Given the description of an element on the screen output the (x, y) to click on. 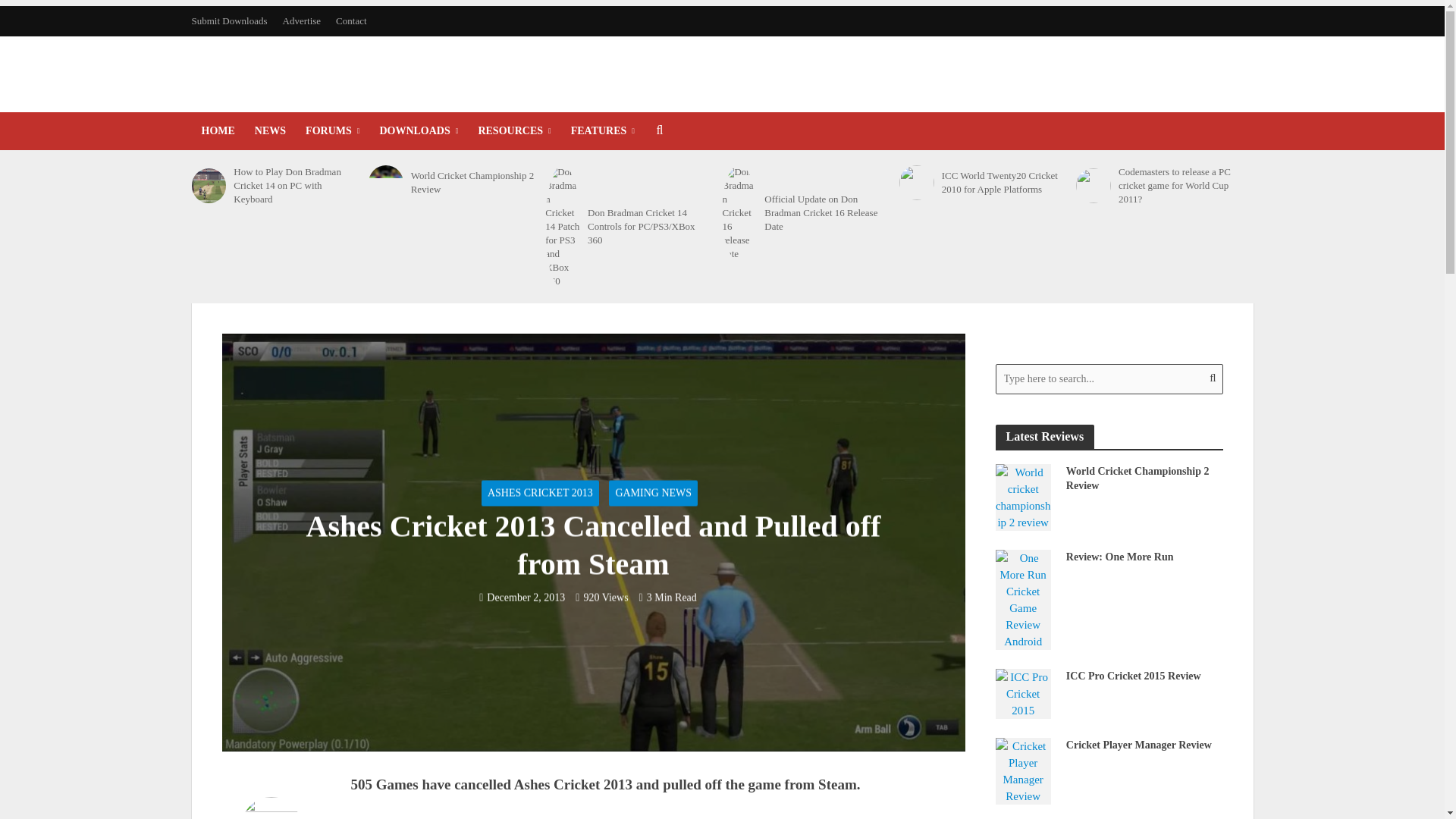
HOME (217, 130)
RESOURCES (513, 130)
Review: One More Run (1021, 598)
How to Play Don Bradman Cricket 14 on PC with Keyboard (295, 185)
Codemasters to release a PC cricket game for World Cup 2011? (1092, 185)
Cricket Player Manager Review (1021, 769)
World Cricket Championship 2 Review (472, 182)
World Cricket Championship 2 Review (1021, 495)
FORUMS (332, 130)
FEATURES (602, 130)
